Given the description of an element on the screen output the (x, y) to click on. 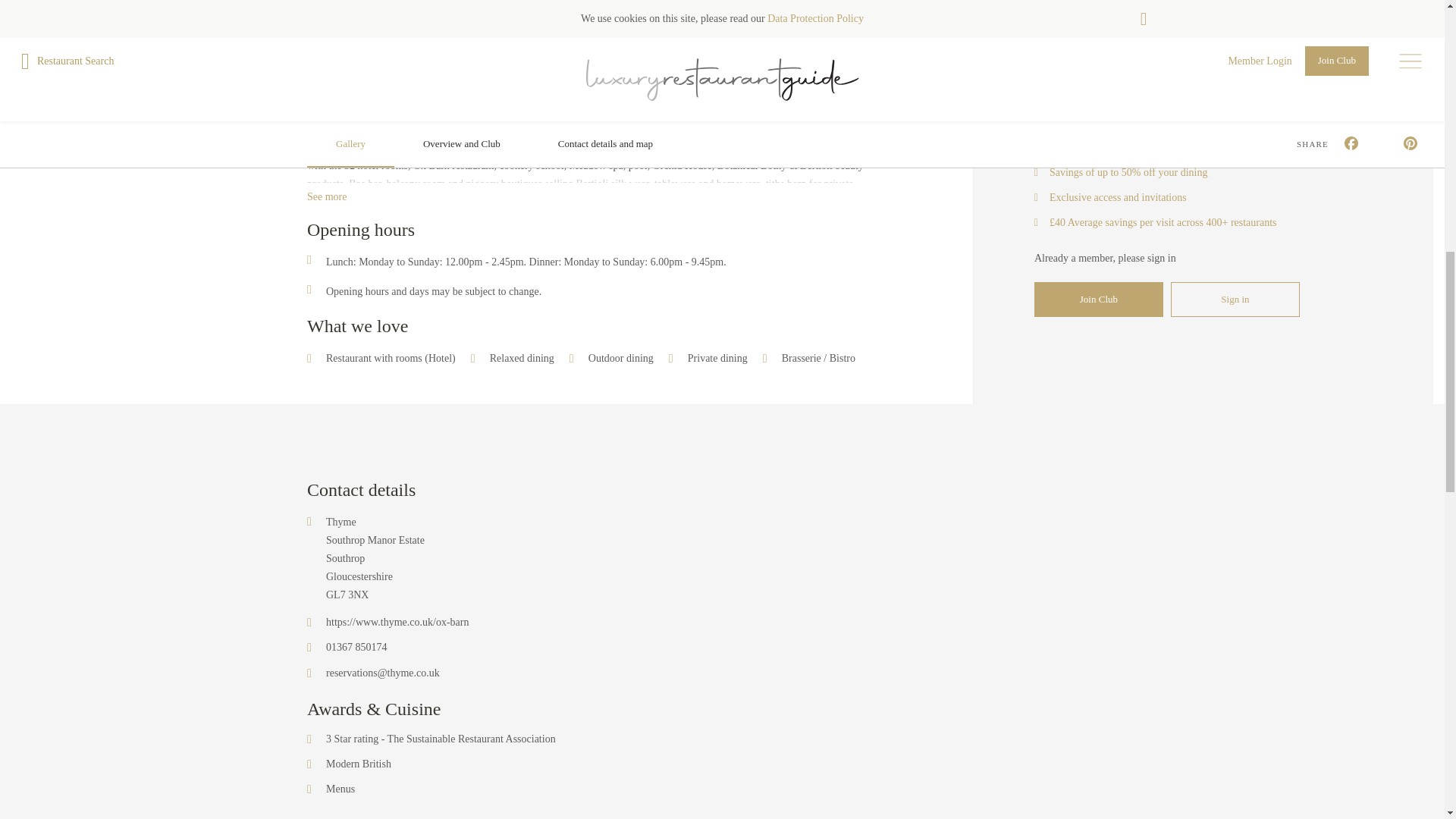
Menus (340, 789)
01367 850174 (356, 647)
Join Club (1098, 298)
Sign in (1235, 298)
Already a member, please sign in (1104, 257)
See more (326, 196)
